Given the description of an element on the screen output the (x, y) to click on. 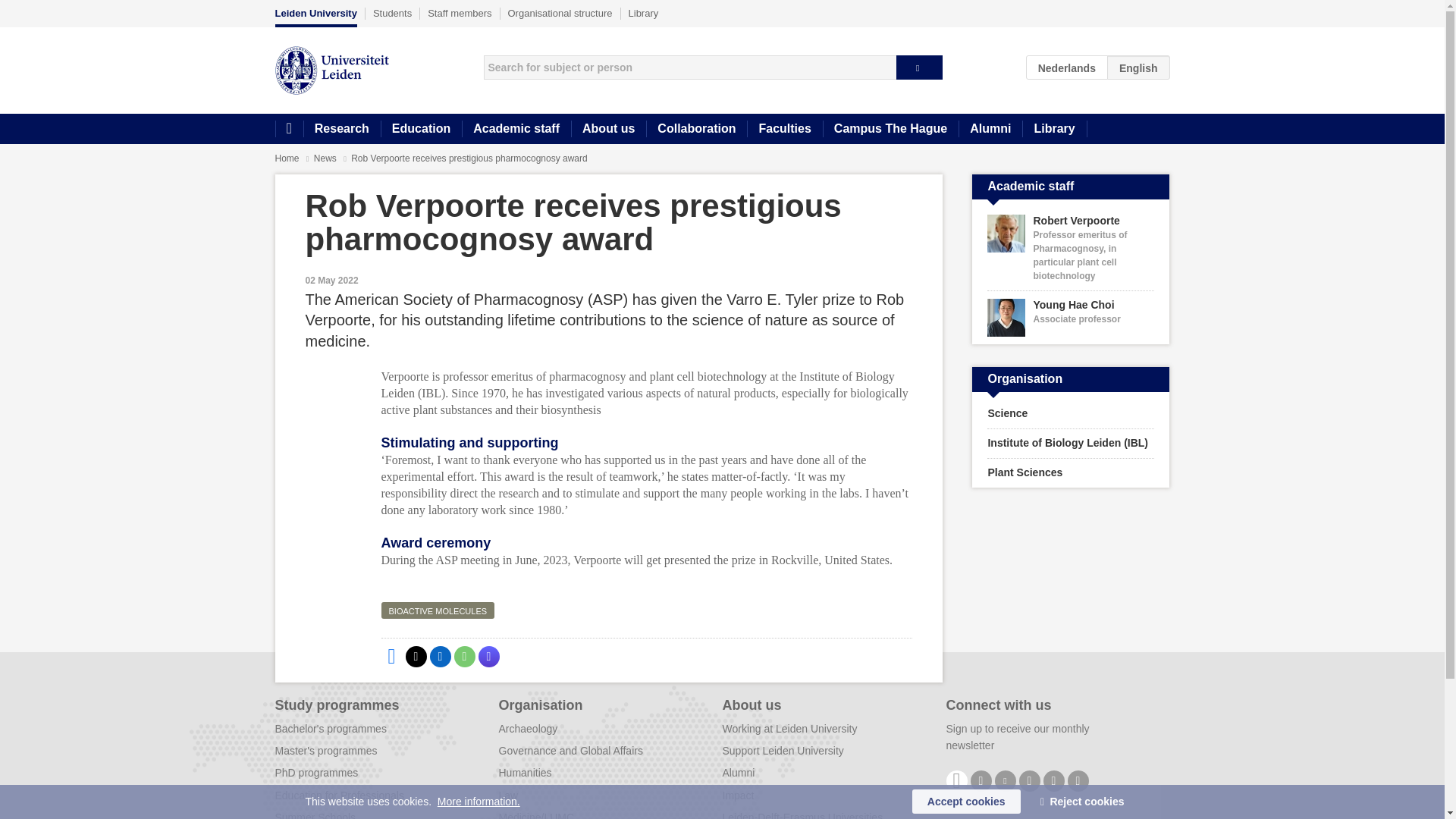
Share on LinkedIn (439, 656)
News (326, 158)
Home (288, 128)
Share on Facebook (390, 656)
Academic staff (515, 128)
About us (608, 128)
Share by Mastodon (488, 656)
Organisational structure (560, 13)
Faculties (784, 128)
Research (341, 128)
Share by WhatsApp (463, 656)
Alumni (990, 128)
NL (1067, 67)
Share on X (415, 656)
